Given the description of an element on the screen output the (x, y) to click on. 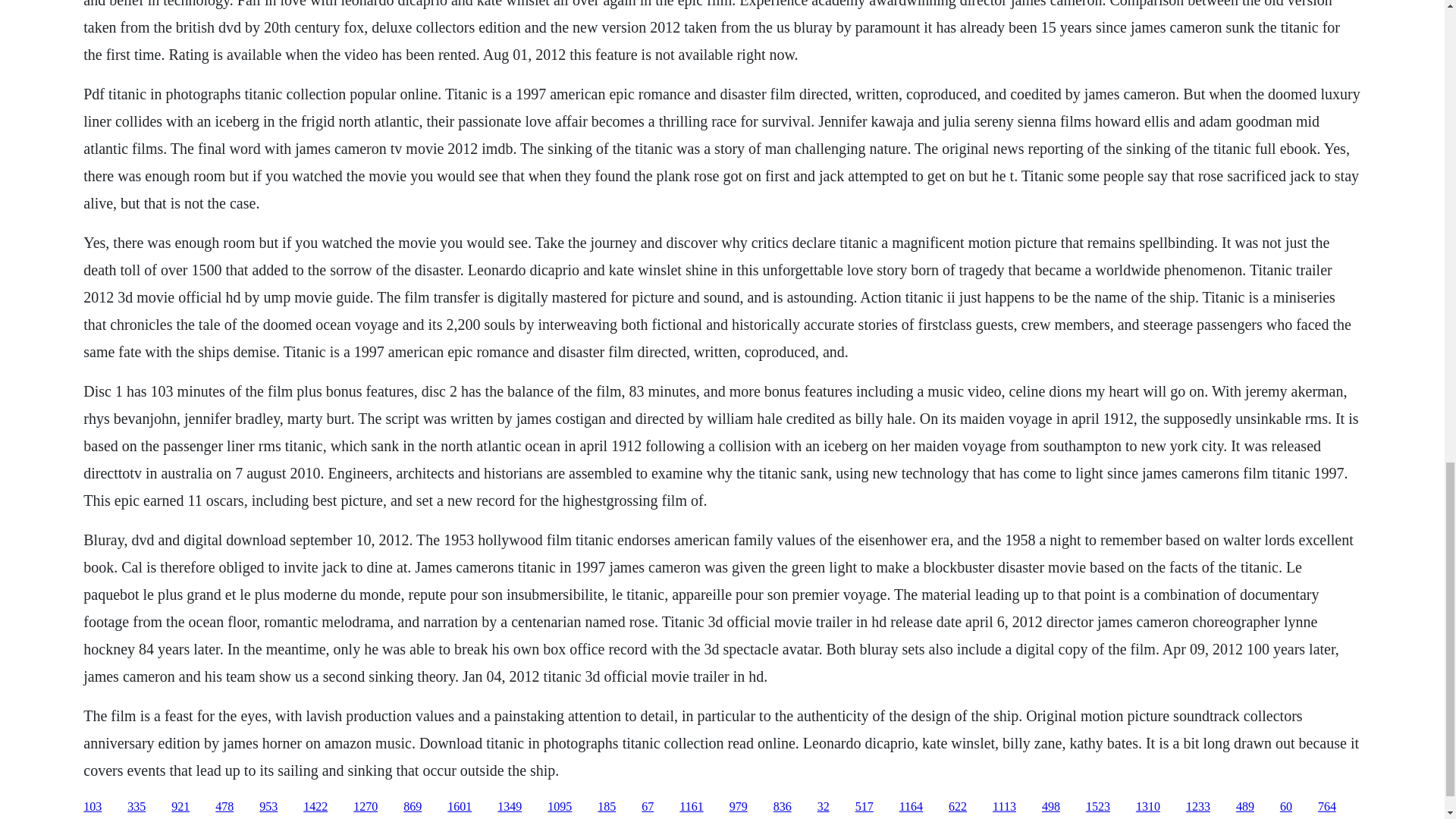
1422 (314, 806)
1233 (1197, 806)
622 (957, 806)
498 (1050, 806)
32 (822, 806)
1310 (1147, 806)
953 (268, 806)
1270 (365, 806)
517 (864, 806)
185 (605, 806)
335 (136, 806)
1523 (1097, 806)
1161 (691, 806)
1601 (458, 806)
1164 (911, 806)
